Given the description of an element on the screen output the (x, y) to click on. 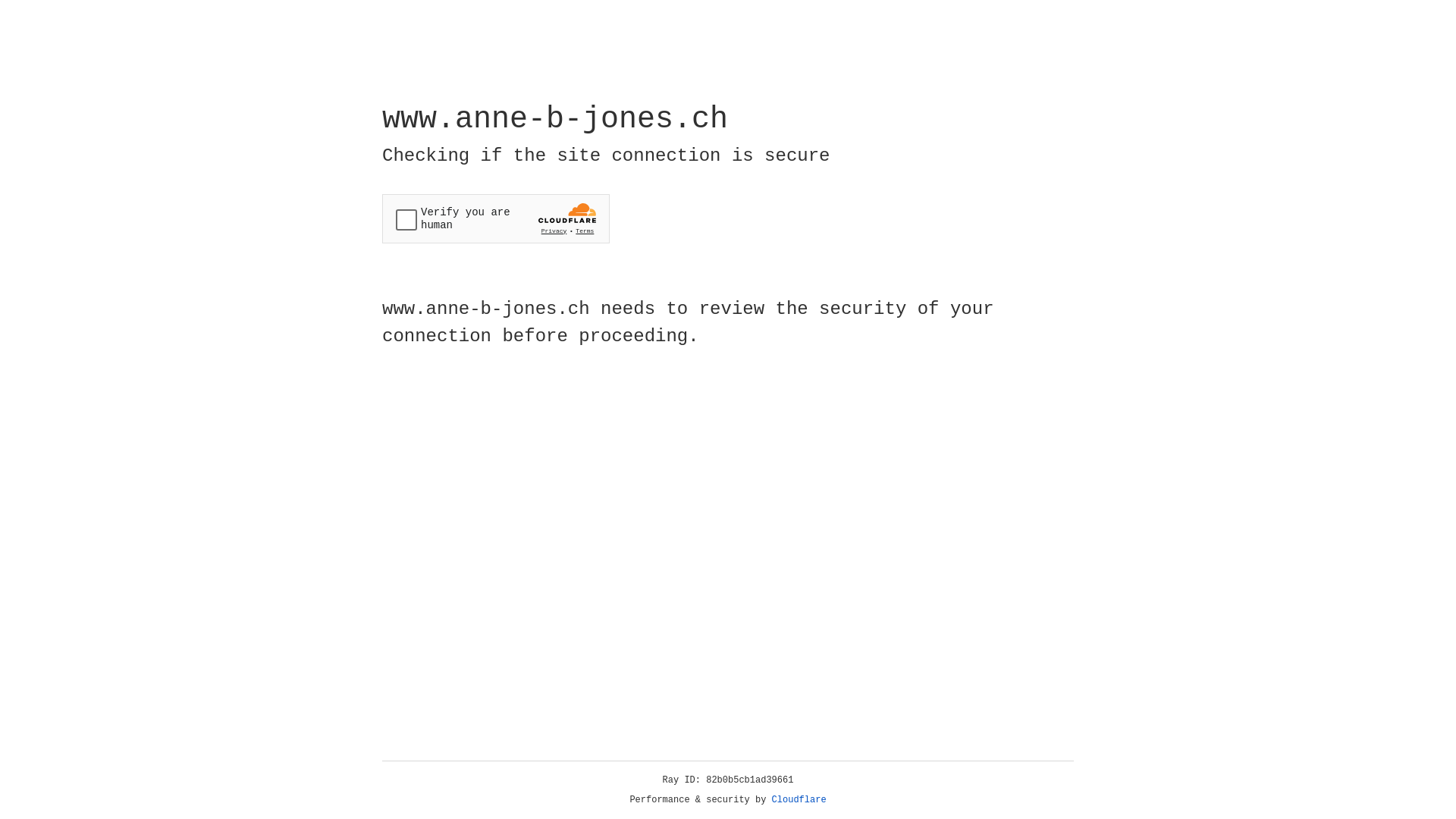
Widget containing a Cloudflare security challenge Element type: hover (495, 218)
Cloudflare Element type: text (798, 799)
